Given the description of an element on the screen output the (x, y) to click on. 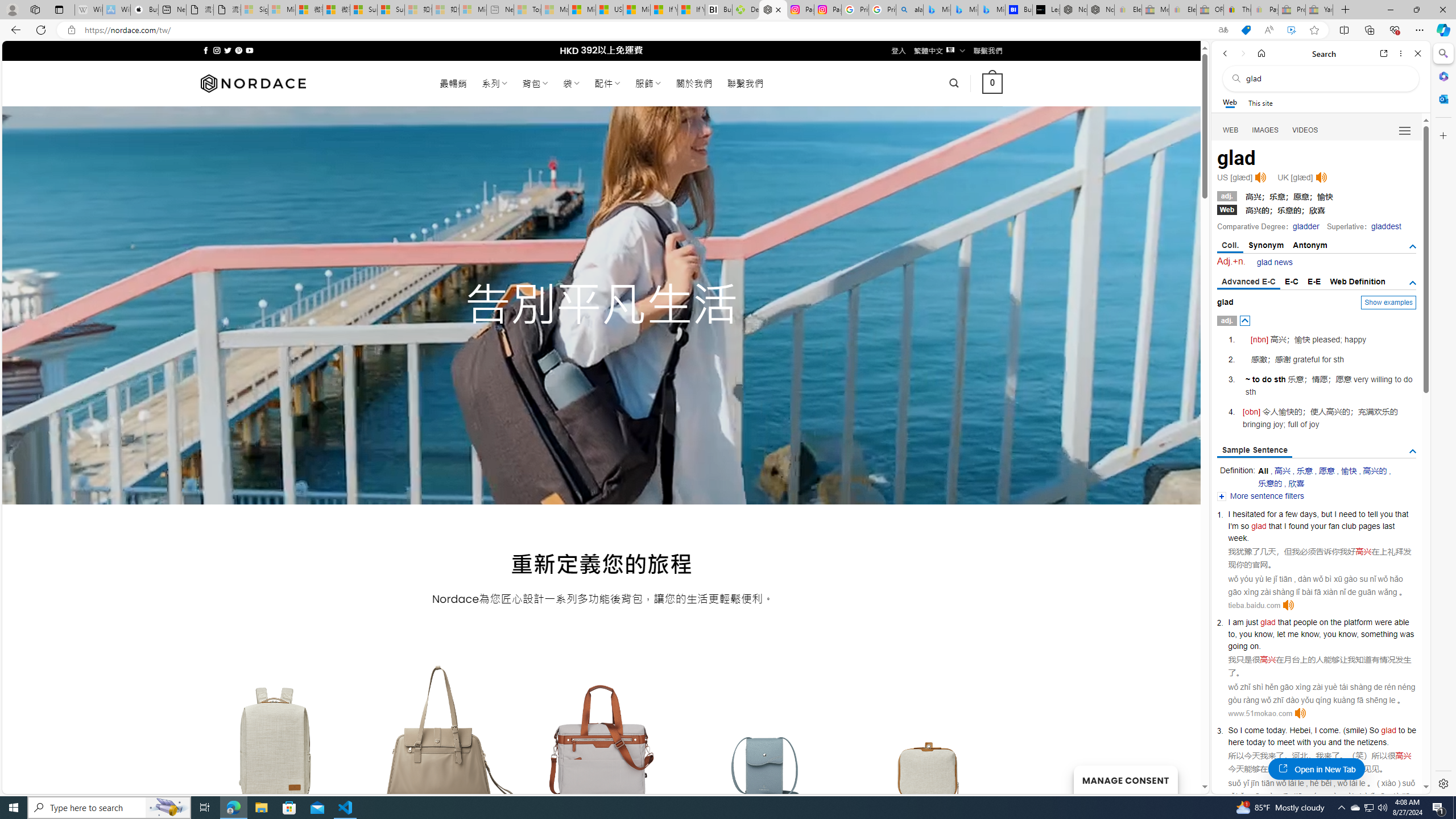
Enhance video (1291, 29)
Side bar (1443, 418)
Forward (1242, 53)
WEB (1231, 130)
Close (1417, 53)
Search the web (1326, 78)
Show translate options (1222, 29)
was (1406, 633)
Close tab (778, 9)
